Given the description of an element on the screen output the (x, y) to click on. 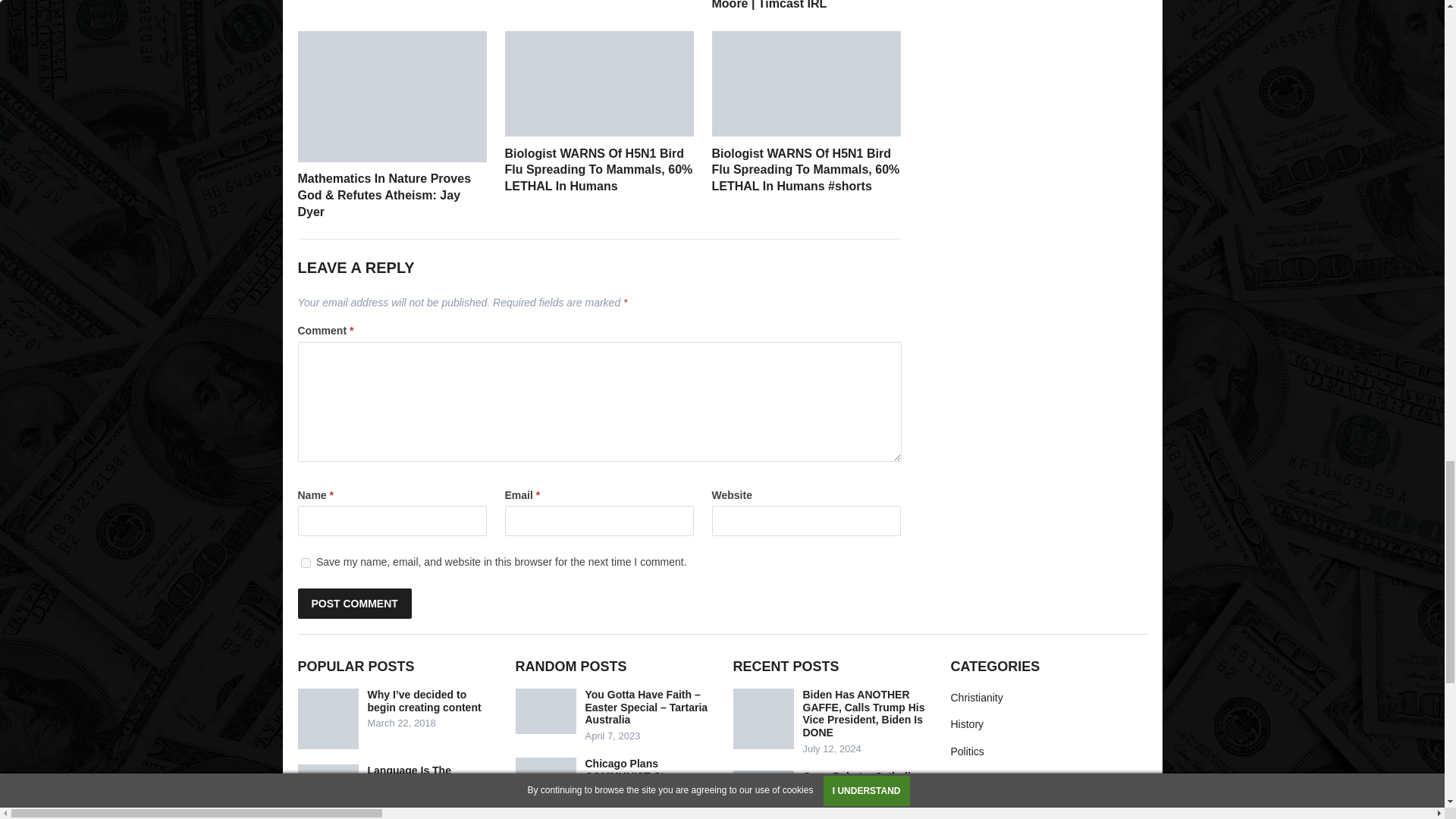
Post Comment (353, 603)
yes (304, 562)
